Given the description of an element on the screen output the (x, y) to click on. 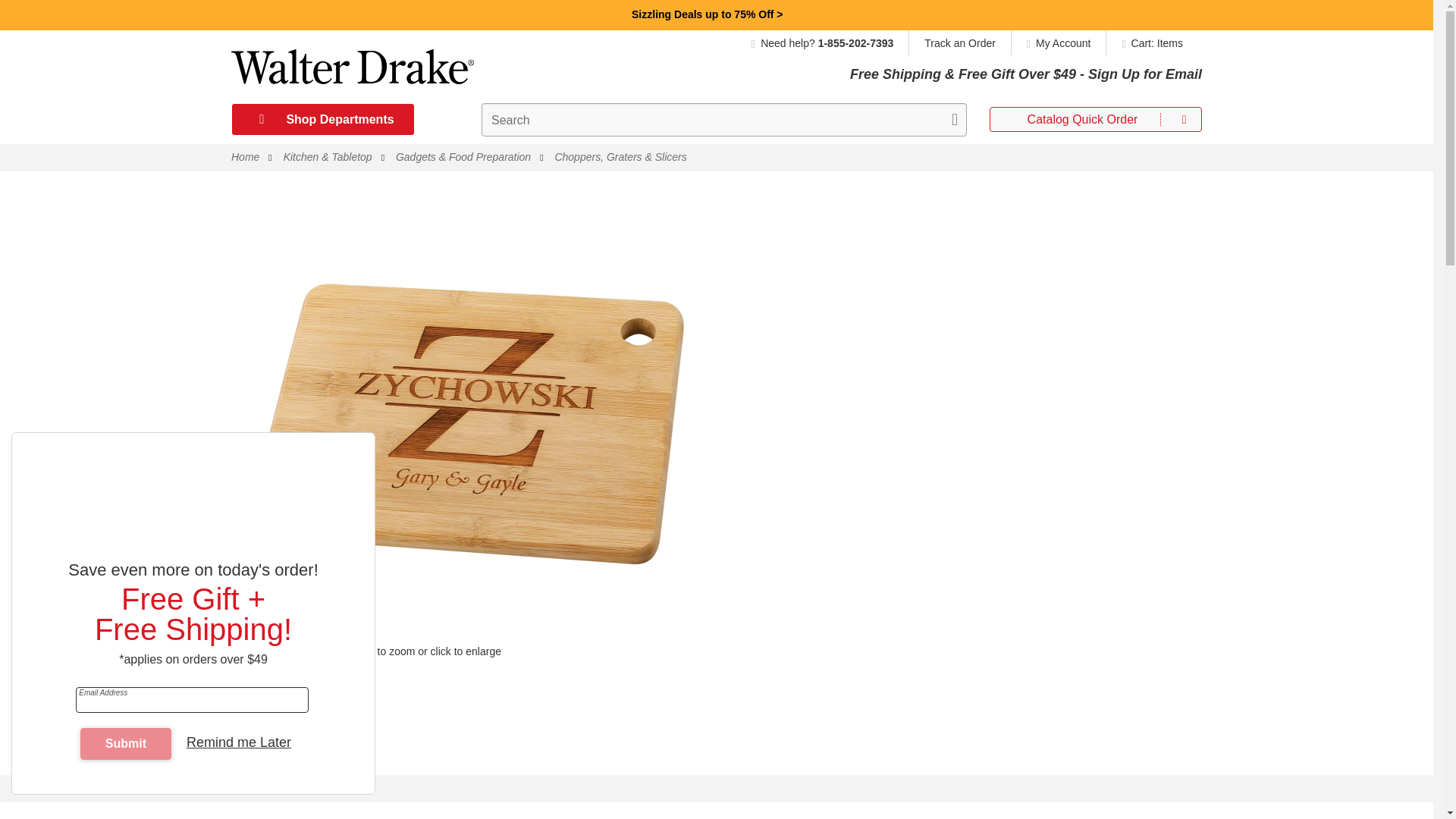
Track an Order (959, 43)
Homepage Link (351, 72)
sale (707, 14)
Cart: Items (1148, 43)
My Account (1058, 43)
Shop Departments  (322, 119)
Need help? 1-855-202-7393 (829, 43)
